Given the description of an element on the screen output the (x, y) to click on. 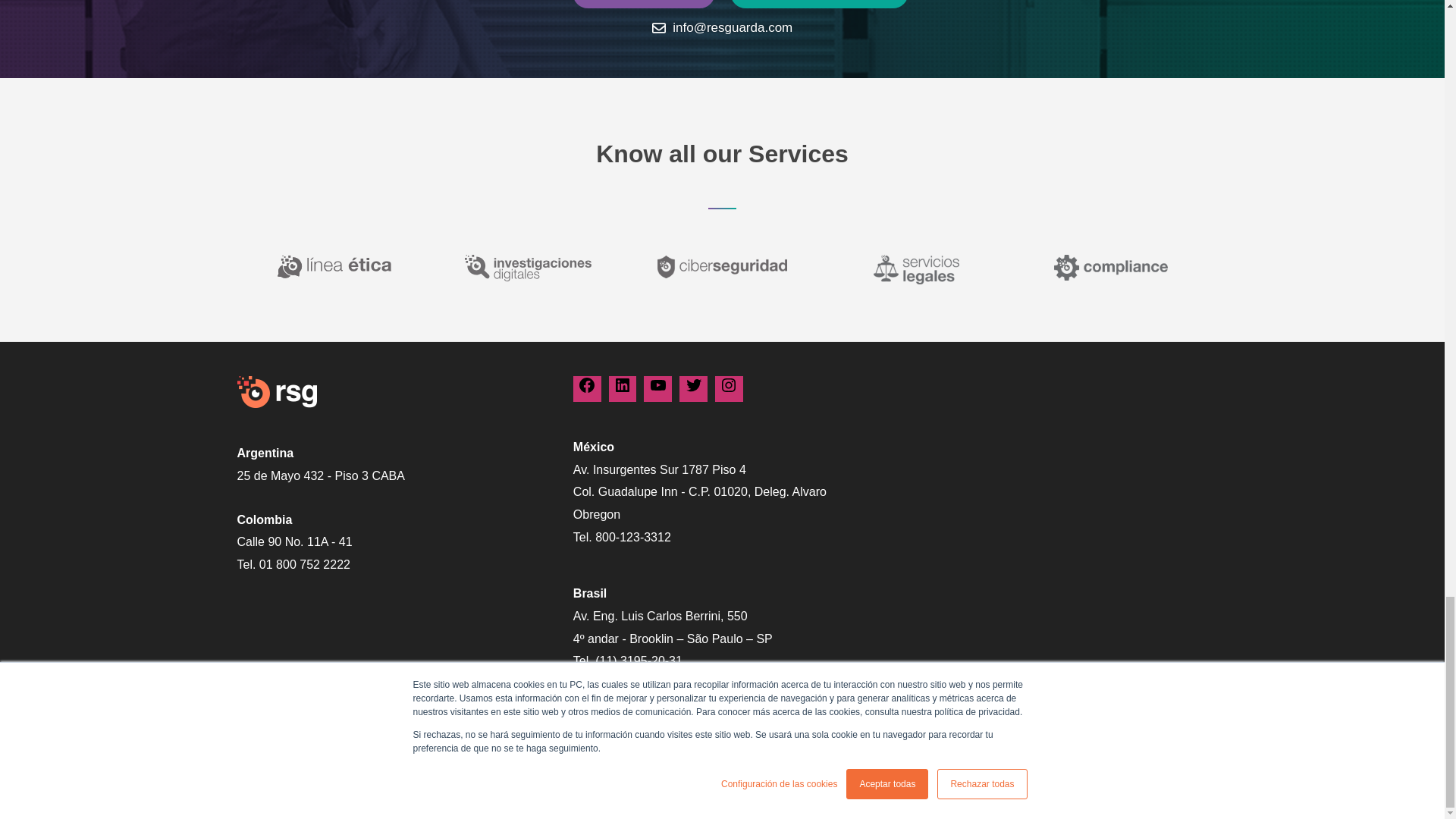
Form 0 (1057, 446)
